Given the description of an element on the screen output the (x, y) to click on. 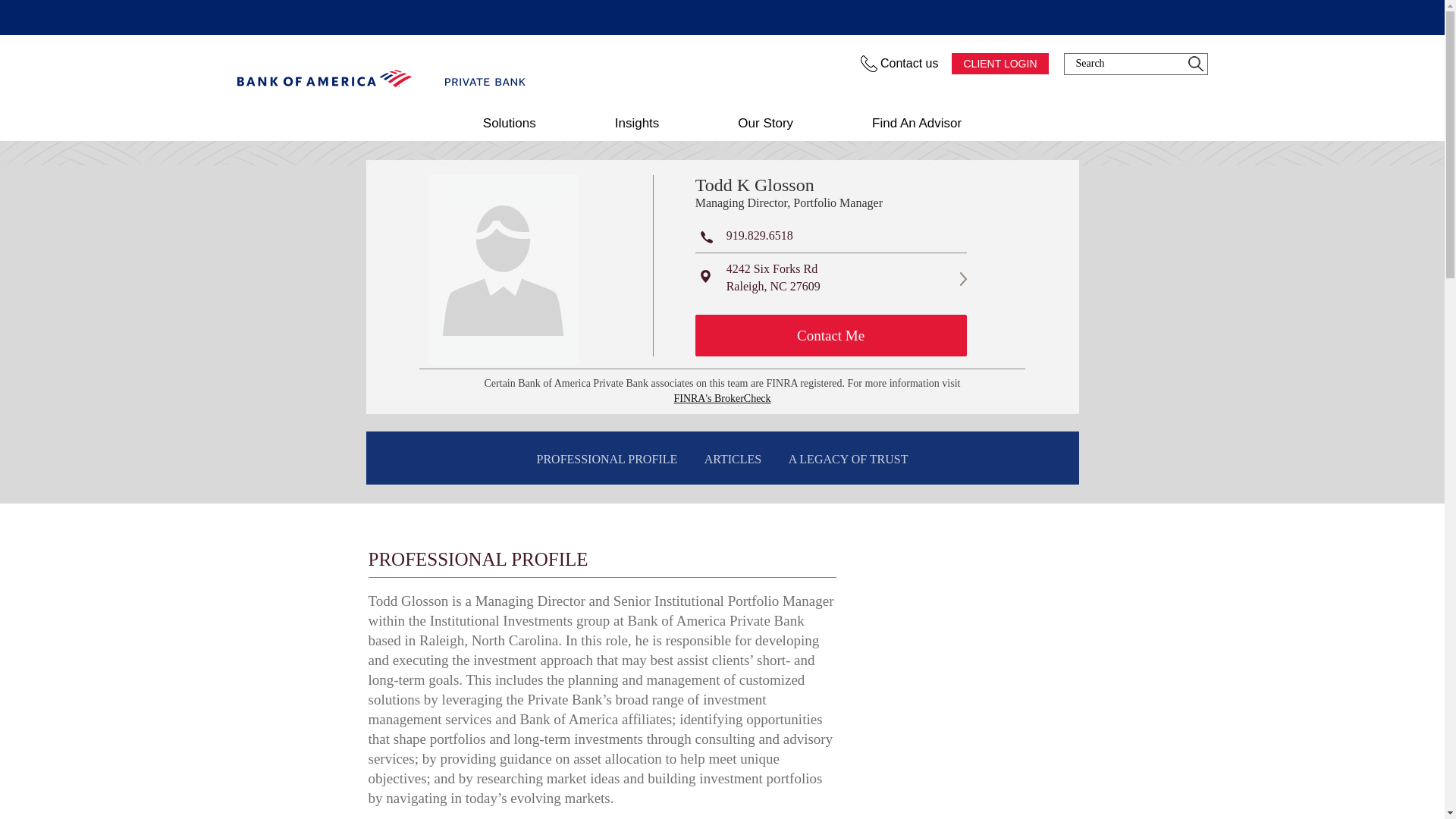
ARTICLES (733, 459)
FINRA's BrokerCheck (721, 398)
Our Story (765, 122)
Contact us (900, 63)
Insights (637, 122)
Contact Me (830, 335)
A LEGACY OF TRUST (848, 459)
Solutions (509, 122)
PROFESSIONAL PROFILE (607, 459)
CLIENT LOGIN (1000, 63)
